Given the description of an element on the screen output the (x, y) to click on. 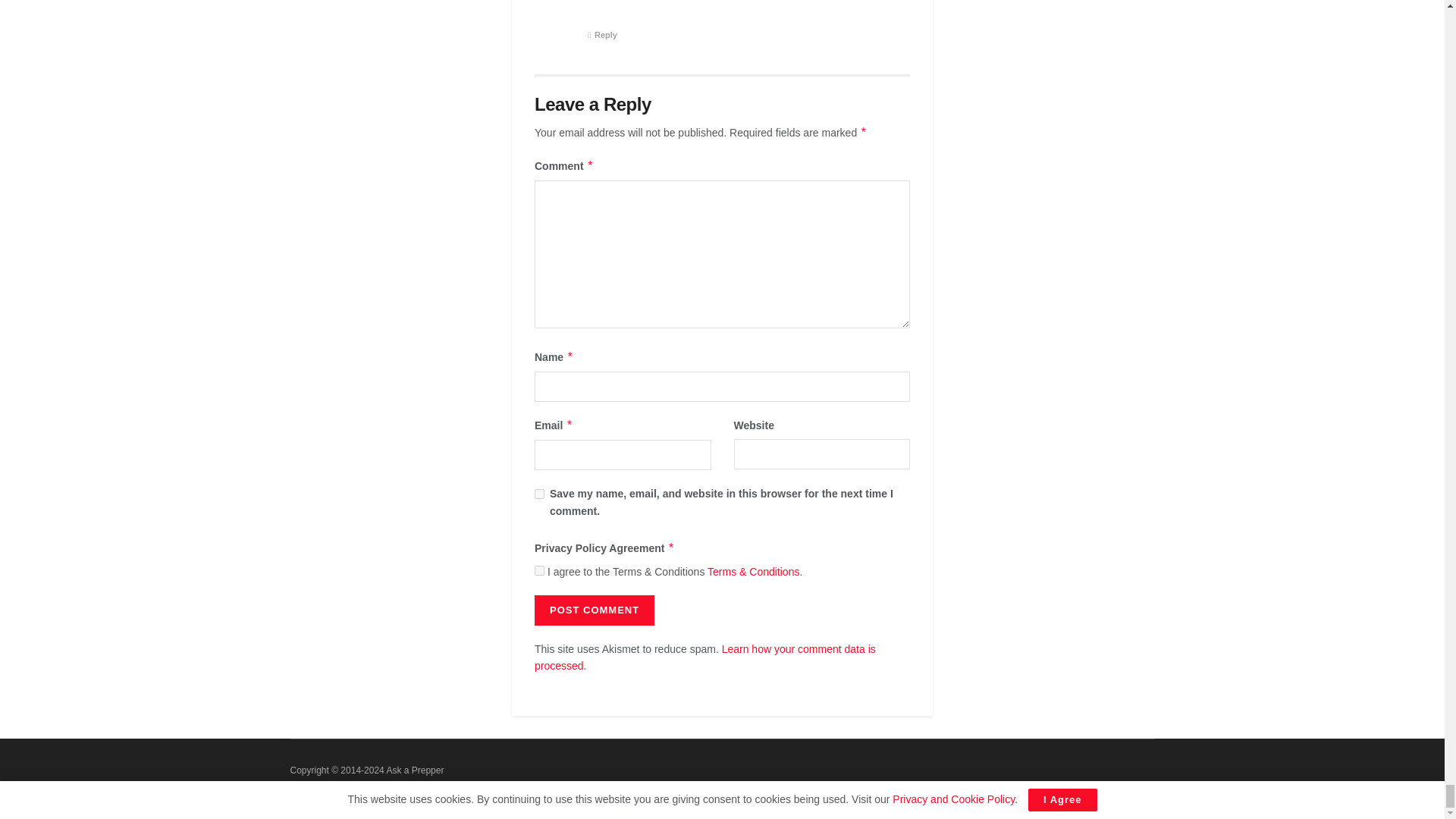
Post Comment (593, 610)
yes (539, 493)
on (539, 570)
